Given the description of an element on the screen output the (x, y) to click on. 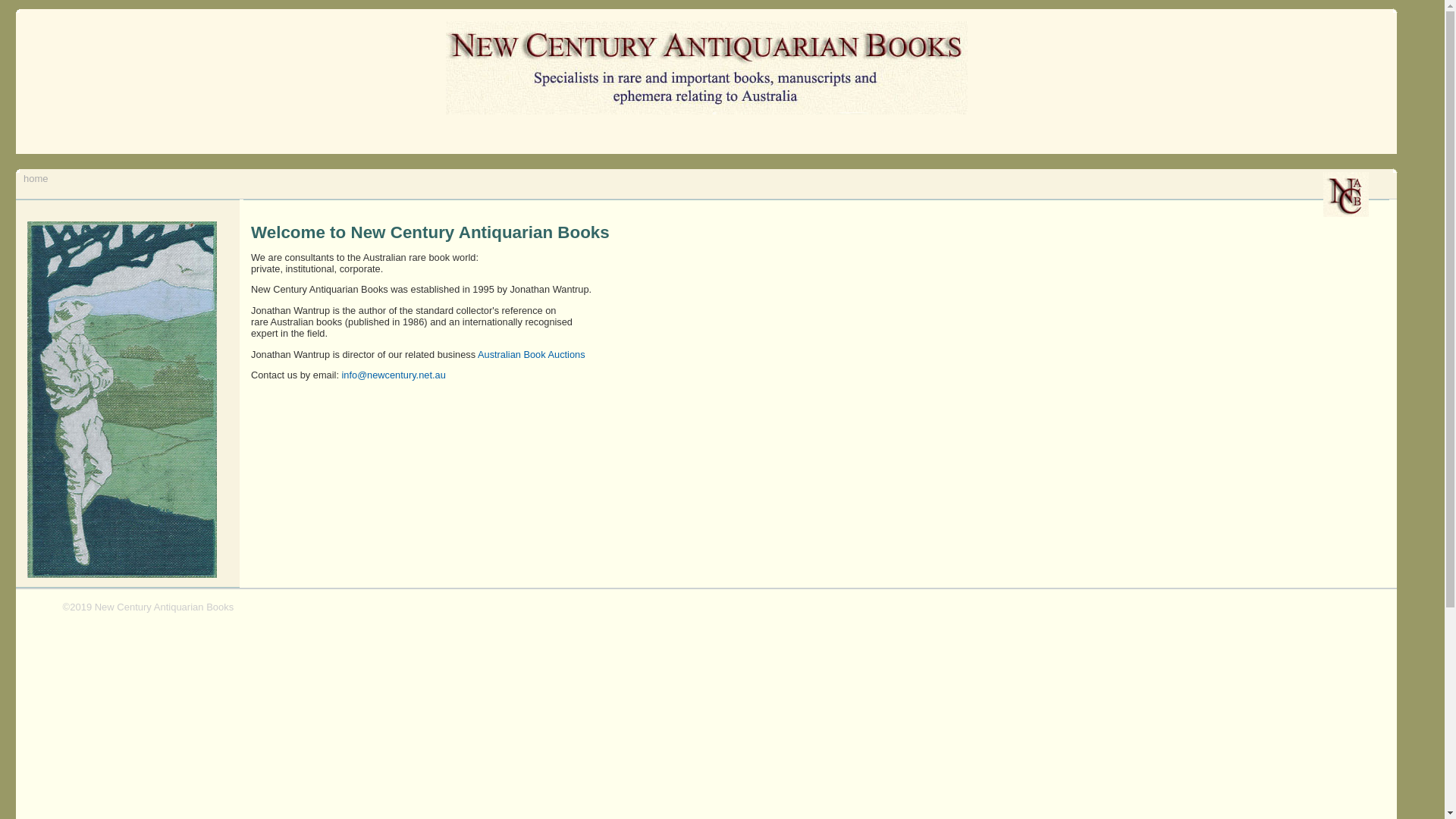
info@newcentury.net.au Element type: text (393, 374)
Australian Book Auctions Element type: text (531, 354)
